Given the description of an element on the screen output the (x, y) to click on. 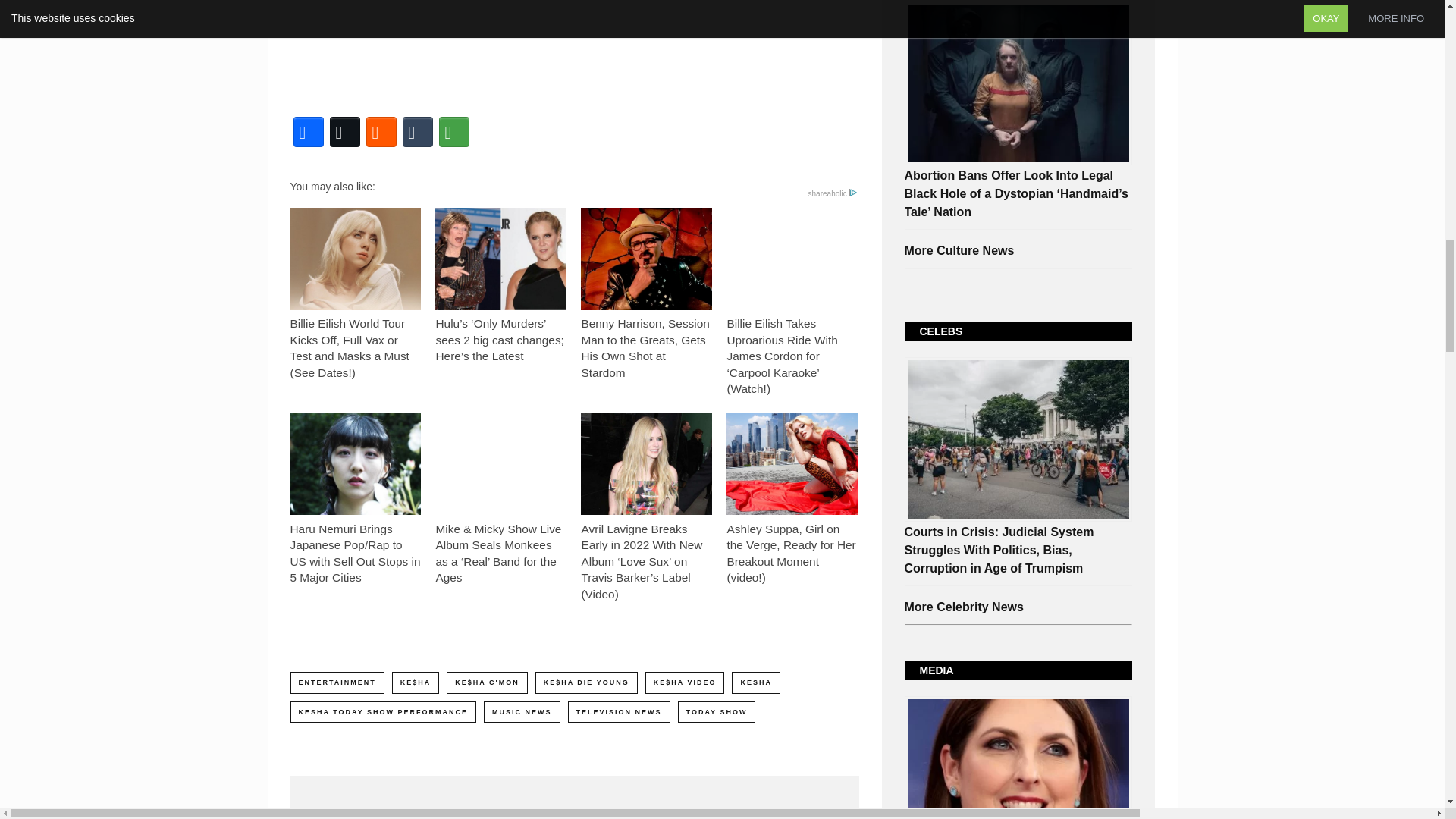
Reddit (380, 131)
Facebook (307, 131)
Tumblr (416, 131)
More Options (453, 131)
